Given the description of an element on the screen output the (x, y) to click on. 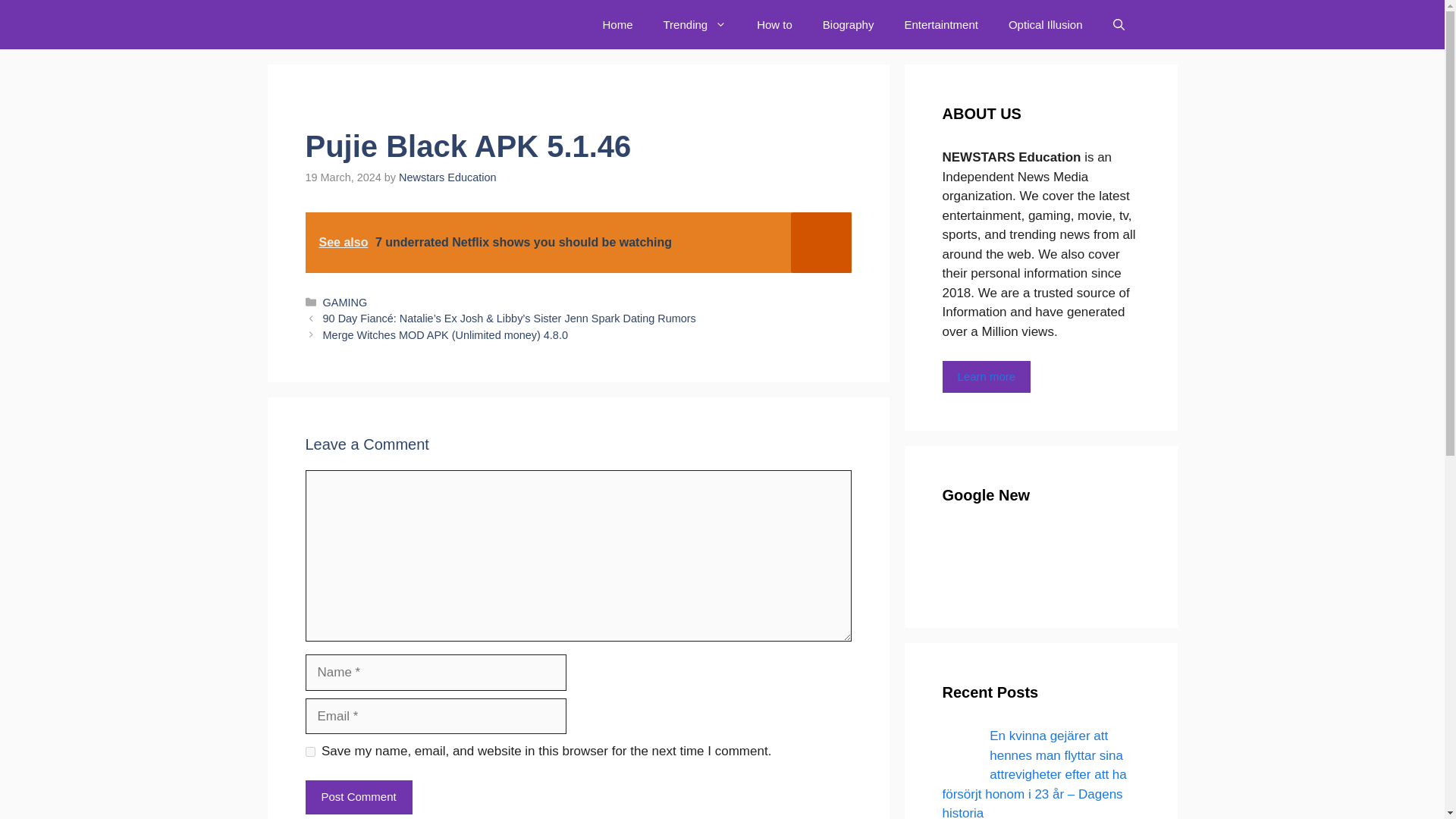
Learn more (986, 377)
Biography (848, 24)
View all posts by Newstars Education (447, 177)
Trending (694, 24)
yes (309, 751)
NEWSTARS Education (367, 24)
See also  7 underrated Netflix shows you should be watching (577, 242)
Newstars Education (447, 177)
How to (774, 24)
GAMING (345, 302)
